Given the description of an element on the screen output the (x, y) to click on. 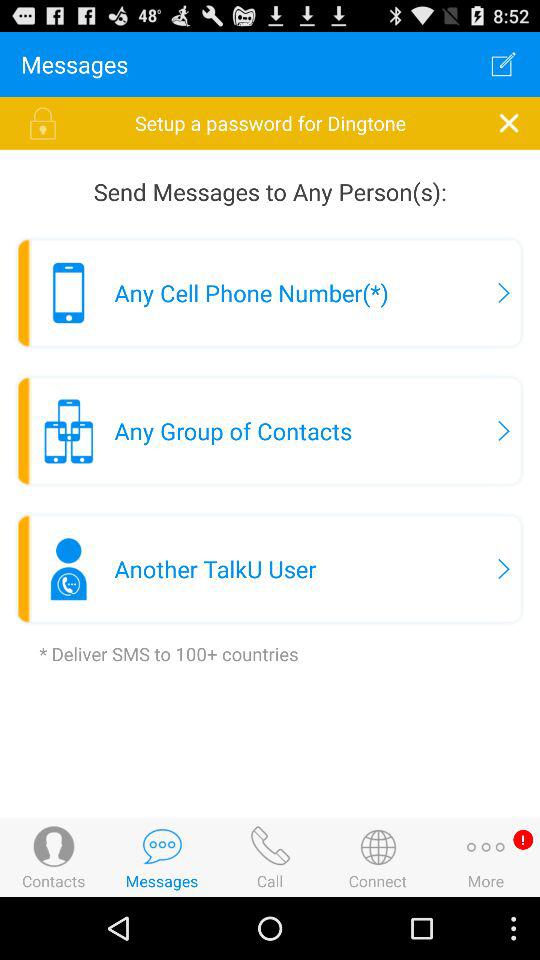
press item to the right of messages item (503, 63)
